Given the description of an element on the screen output the (x, y) to click on. 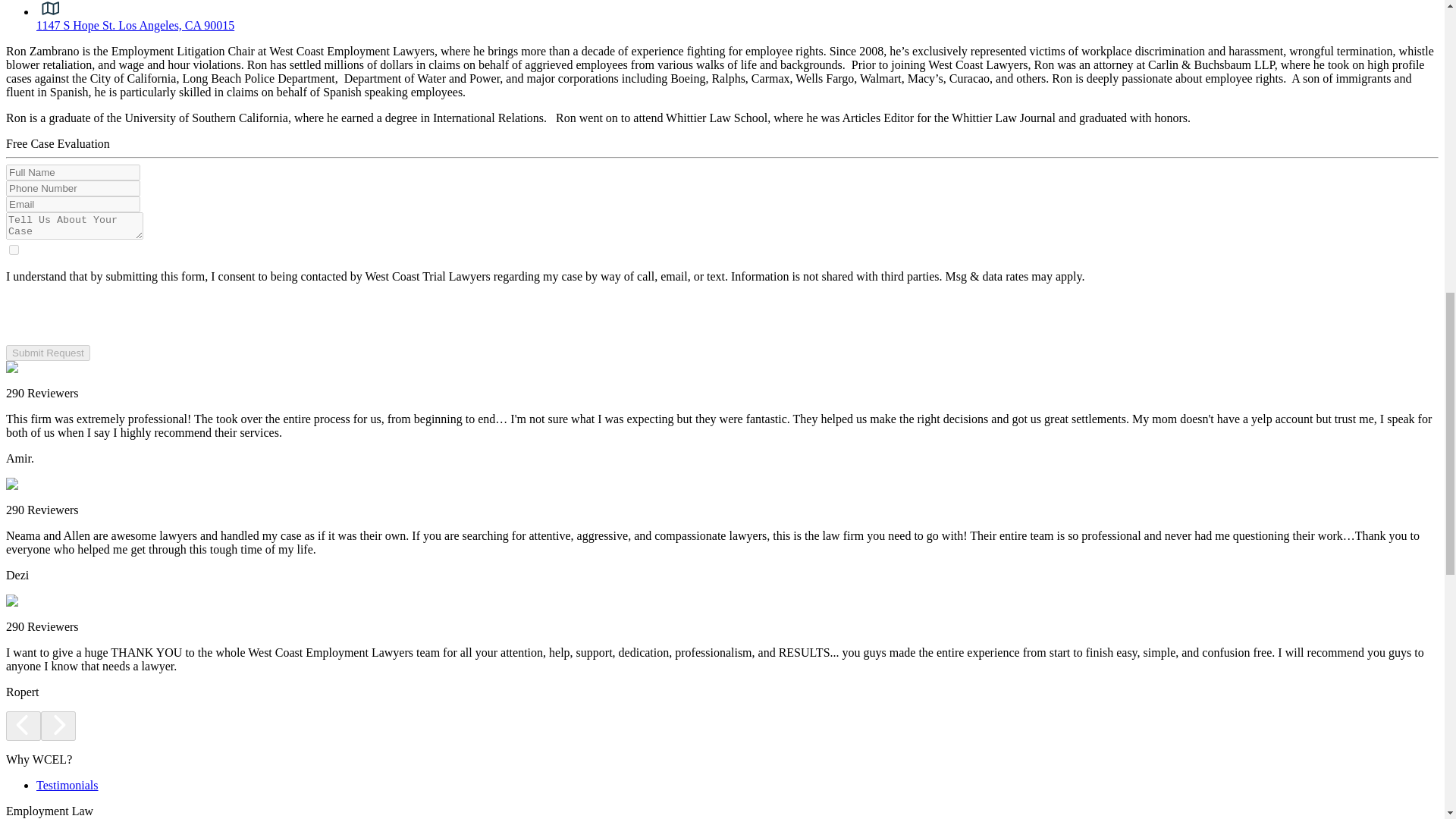
Testimonials (67, 784)
Submit Request (47, 352)
on (13, 249)
1147 S Hope St. Los Angeles, CA 90015 (135, 24)
